Given the description of an element on the screen output the (x, y) to click on. 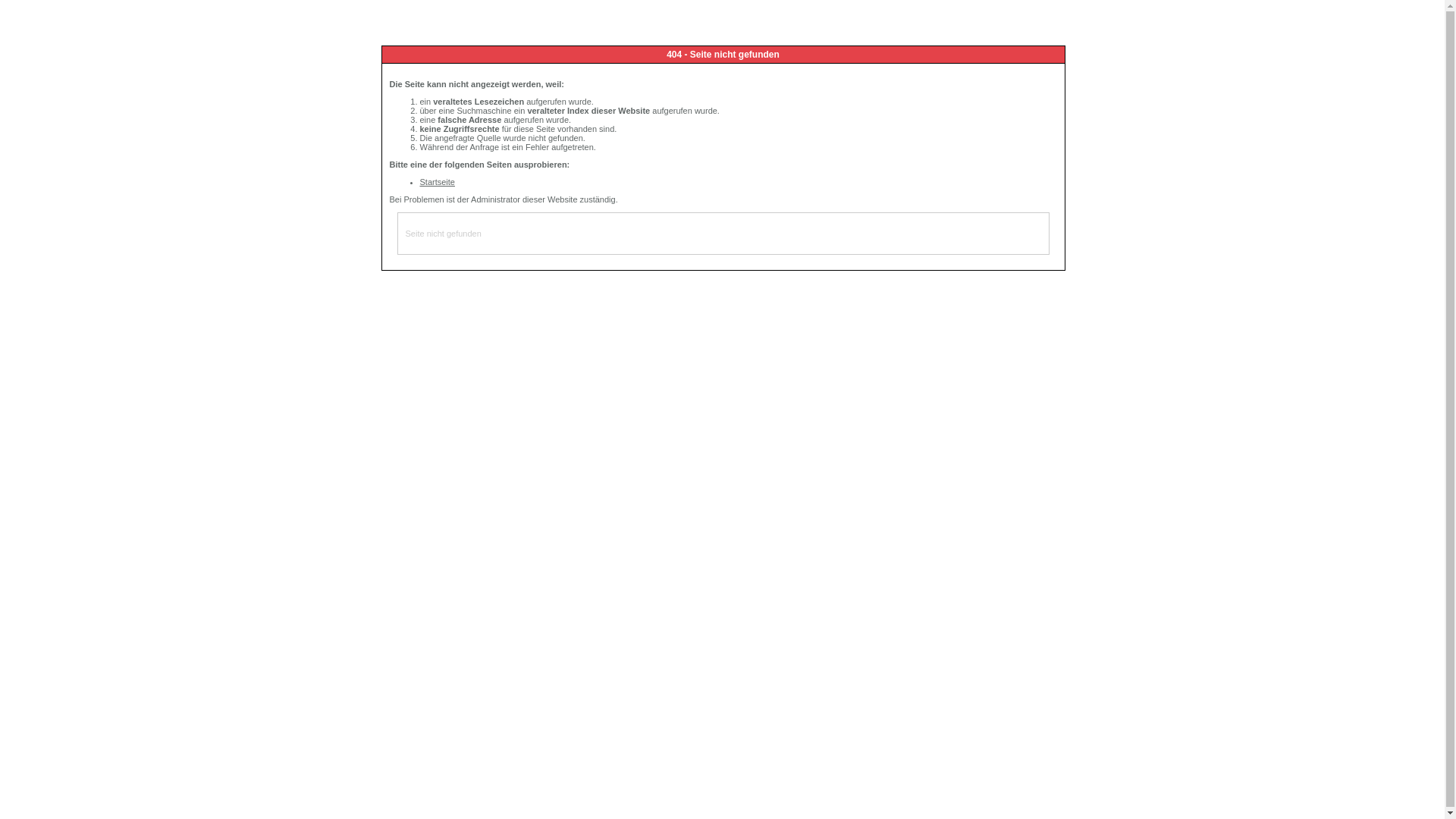
Startseite Element type: text (437, 181)
